Given the description of an element on the screen output the (x, y) to click on. 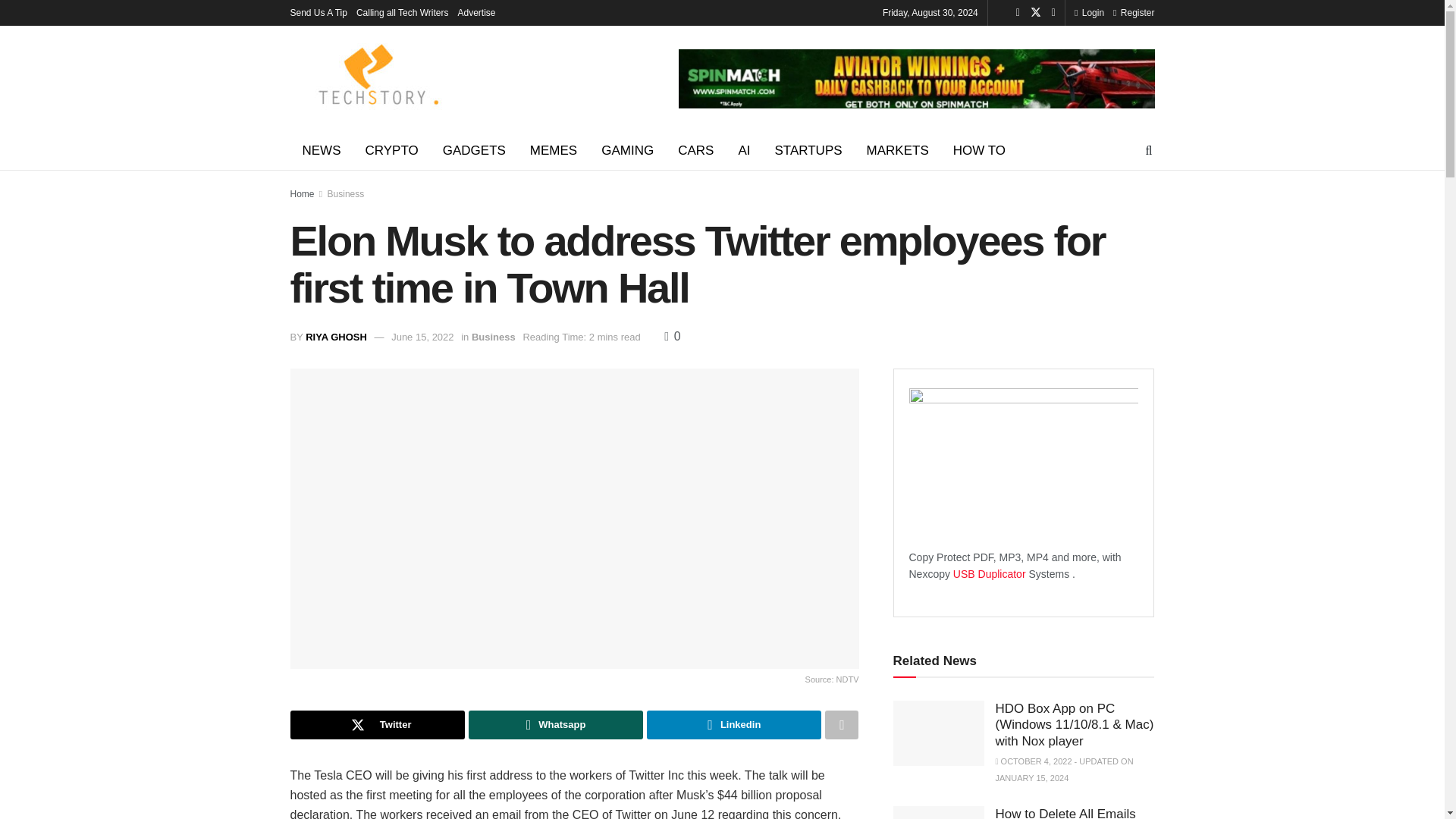
Login (1088, 12)
AI (743, 150)
Send Us A Tip (317, 12)
MARKETS (897, 150)
NEWS (320, 150)
CARS (695, 150)
USB duplicator (989, 573)
GAMING (627, 150)
Calling all Tech Writers (402, 12)
CRYPTO (391, 150)
